Given the description of an element on the screen output the (x, y) to click on. 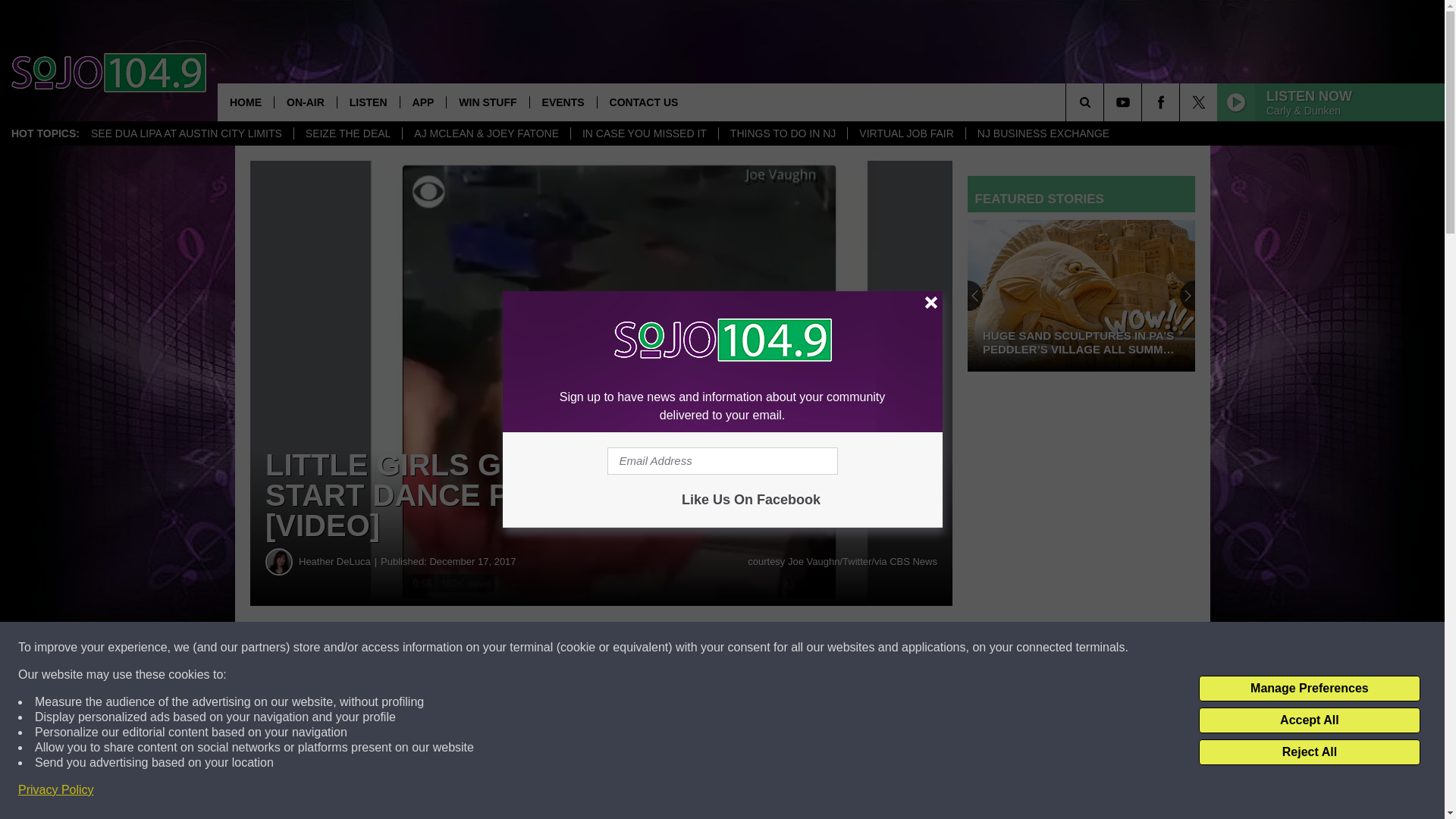
Share on Twitter (741, 647)
HOME (244, 102)
Manage Preferences (1309, 688)
VIRTUAL JOB FAIR (905, 133)
NJ BUSINESS EXCHANGE (1043, 133)
Reject All (1309, 751)
ON-AIR (304, 102)
Share on Facebook (460, 647)
THINGS TO DO IN NJ (782, 133)
SEE DUA LIPA AT AUSTIN CITY LIMITS (187, 133)
SEARCH (1106, 102)
SEIZE THE DEAL (348, 133)
LISTEN (367, 102)
WIN STUFF (486, 102)
IN CASE YOU MISSED IT (643, 133)
